Given the description of an element on the screen output the (x, y) to click on. 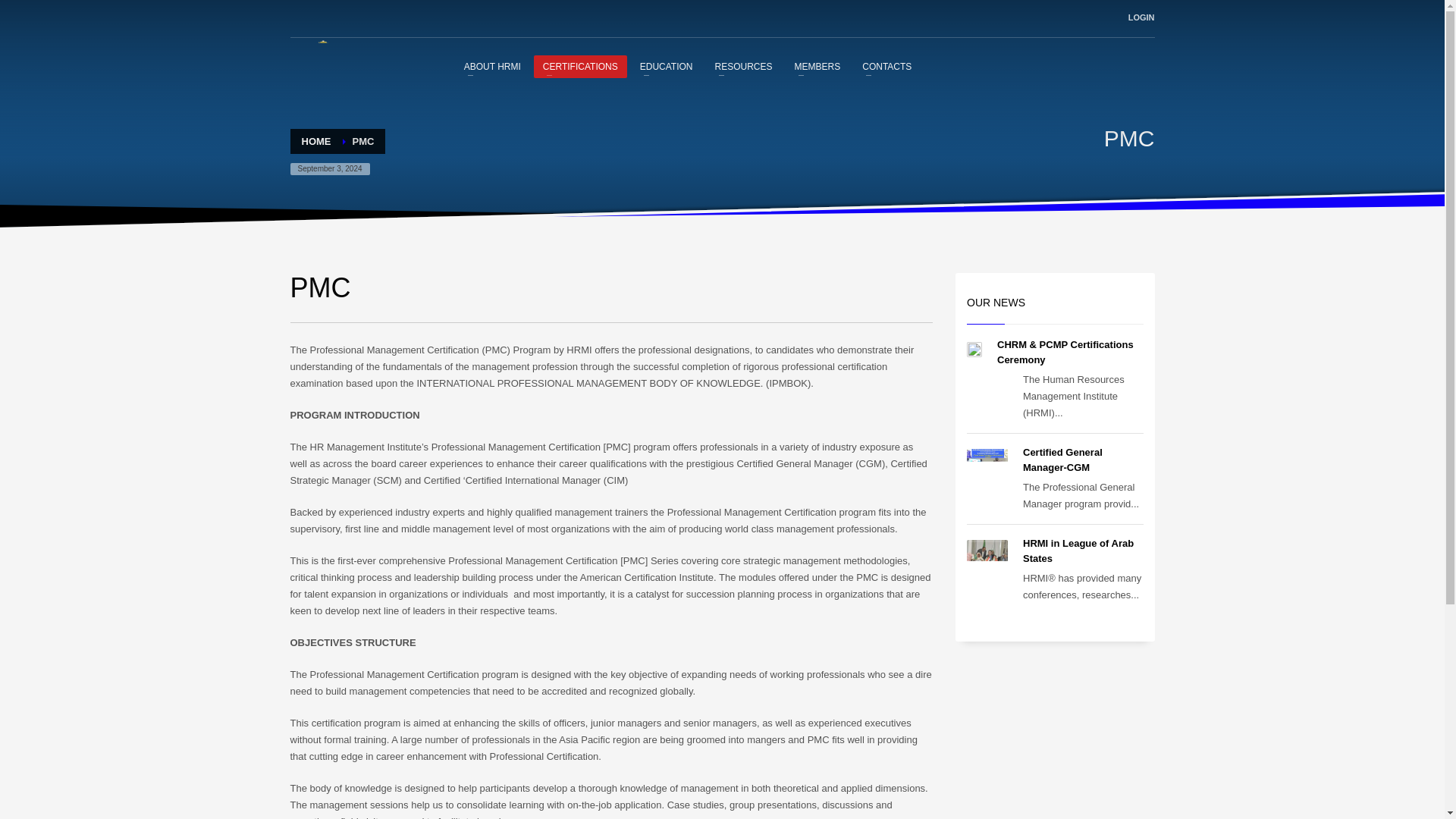
Certified General Manager-CGM (1062, 459)
HRMI in League of Arab States (1078, 550)
ABOUT HRMI (491, 66)
LOGIN (1141, 17)
EDUCATION (665, 66)
CERTIFICATIONS (580, 66)
